Given the description of an element on the screen output the (x, y) to click on. 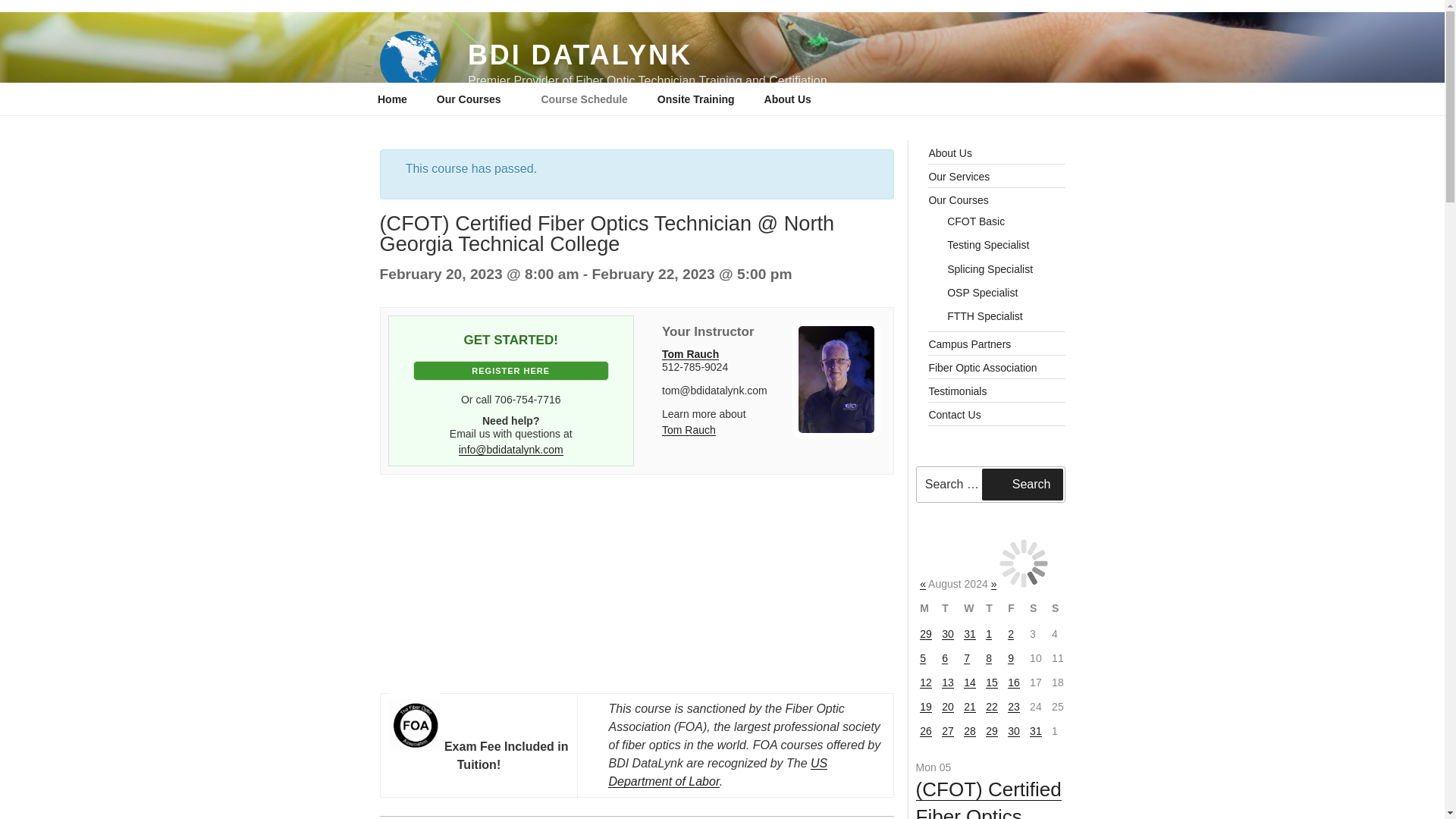
Our Courses (958, 200)
Tom Rauch (690, 354)
About Us (950, 152)
About Us (792, 98)
BDI DATALYNK (580, 54)
Our Courses (473, 98)
Home (392, 98)
Tom Rauch (690, 354)
Testing Specialist (988, 244)
REGISTER HERE (510, 370)
Onsite Training (695, 98)
Course Schedule (583, 98)
Our Services (959, 176)
Tom Rauch (689, 429)
